Given the description of an element on the screen output the (x, y) to click on. 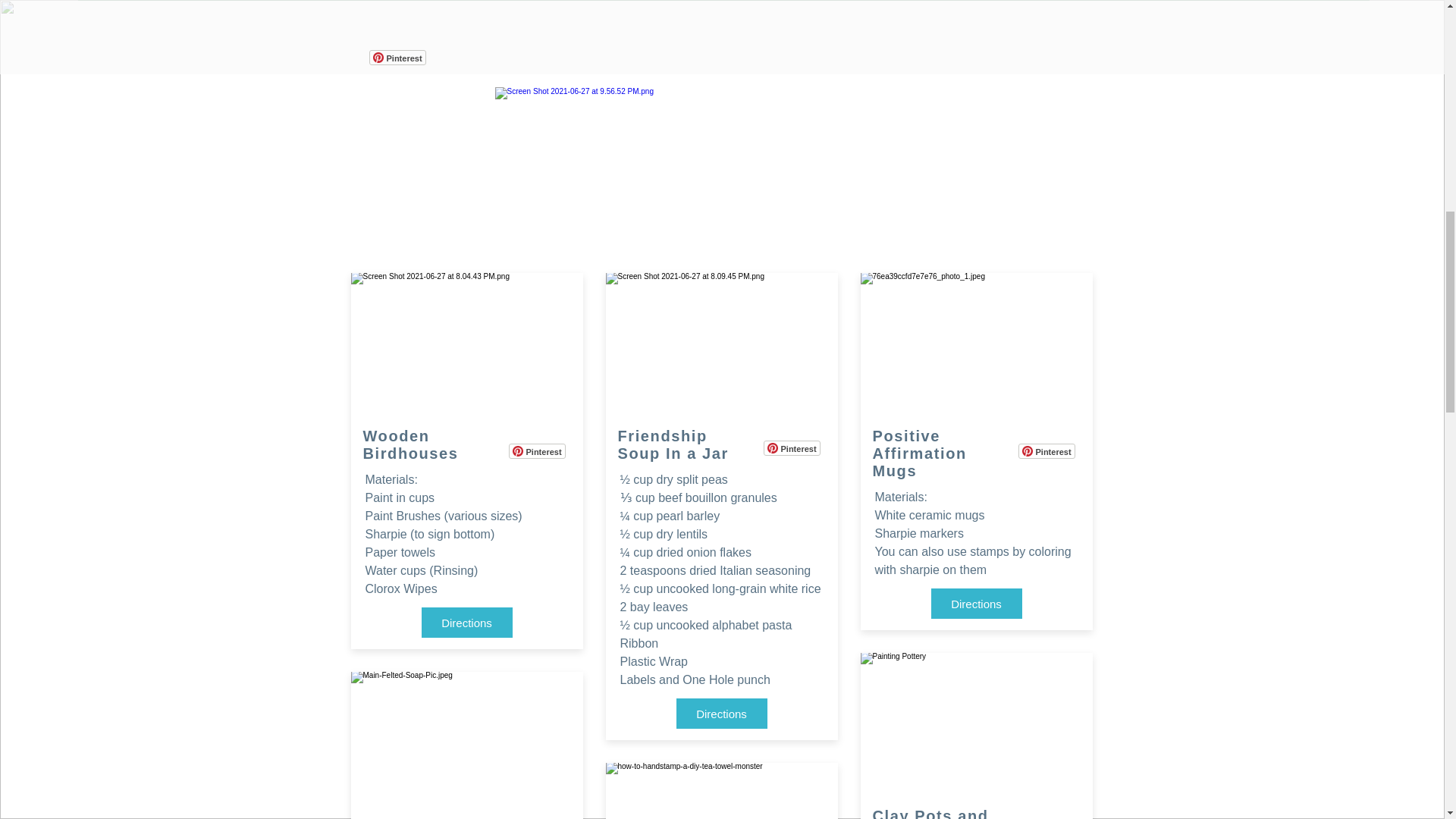
Directions (467, 622)
Directions (722, 713)
Pinterest (790, 447)
Pinterest (1045, 450)
Pinterest (396, 57)
Pinterest (790, 447)
Pinterest (1045, 450)
Directions (976, 603)
Pinterest (536, 450)
Pinterest (536, 450)
